Given the description of an element on the screen output the (x, y) to click on. 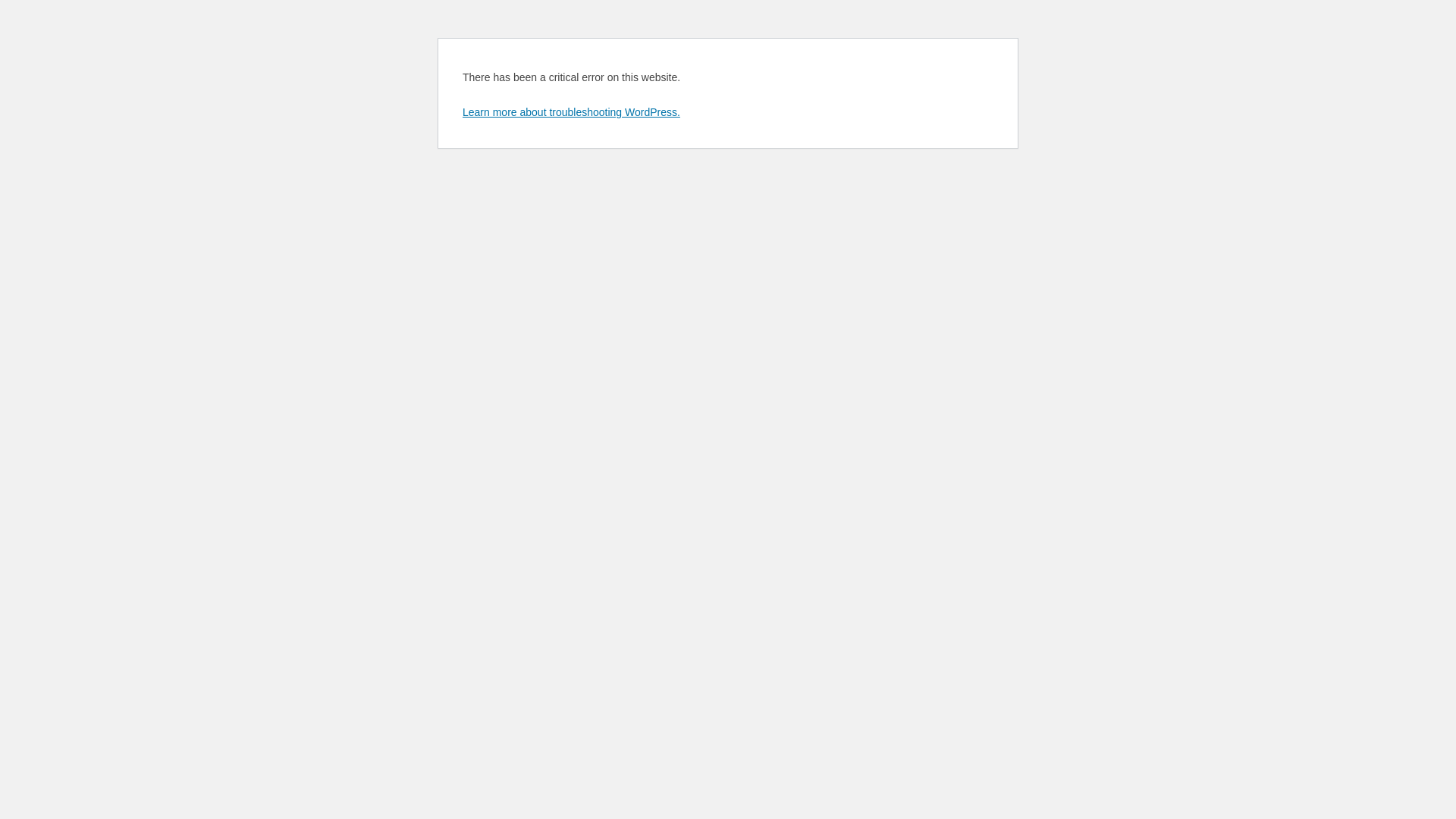
Learn more about troubleshooting WordPress. Element type: text (571, 112)
